Given the description of an element on the screen output the (x, y) to click on. 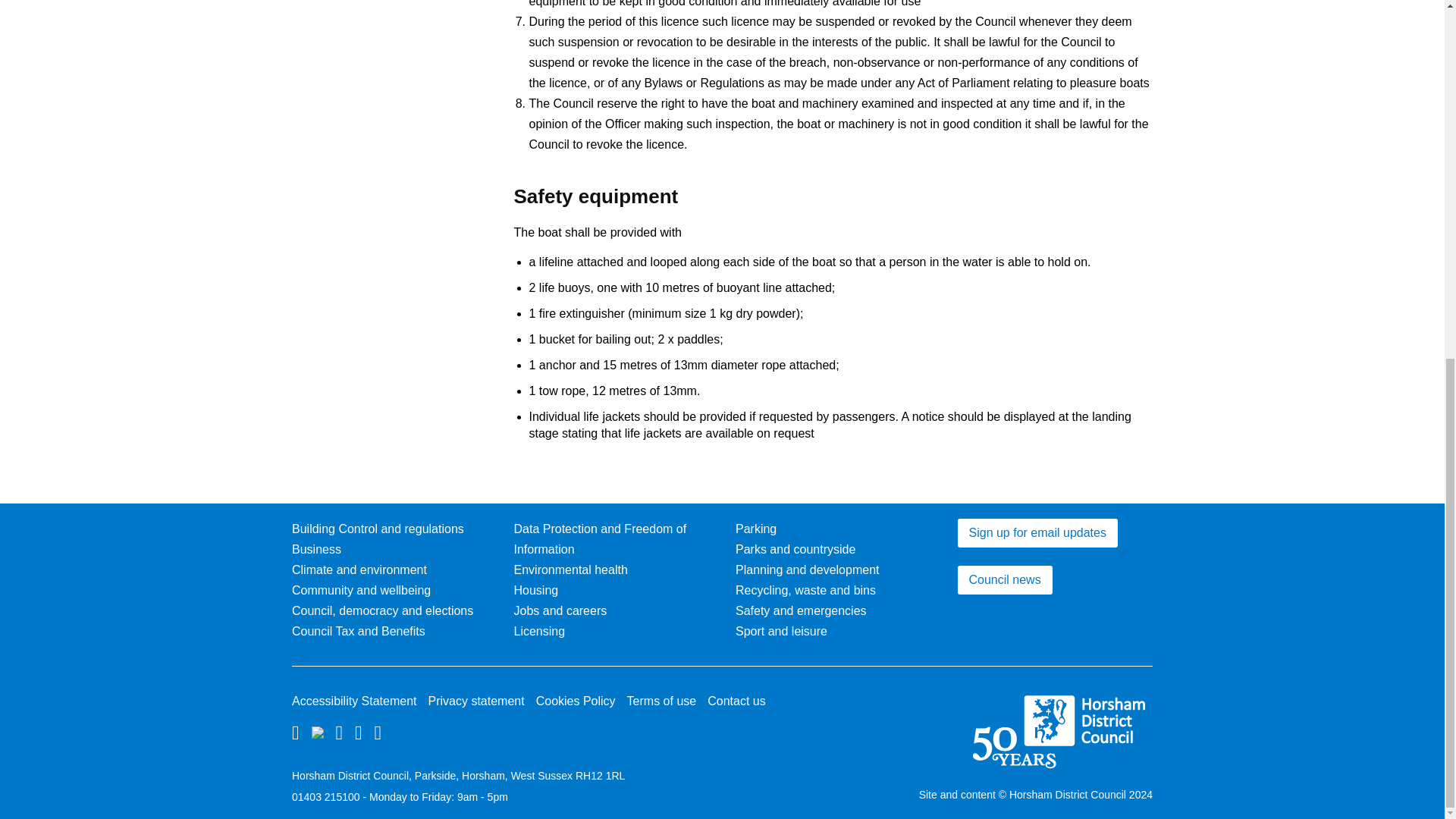
Community and wellbeing (361, 590)
Parks and countryside (795, 549)
Contact us (736, 700)
Sport and leisure (781, 631)
Privacy statement (476, 700)
Planning and development (807, 569)
Jobs and careers (560, 610)
Climate and environment (359, 569)
Building Control and regulations (378, 528)
Terms of use (662, 700)
